Given the description of an element on the screen output the (x, y) to click on. 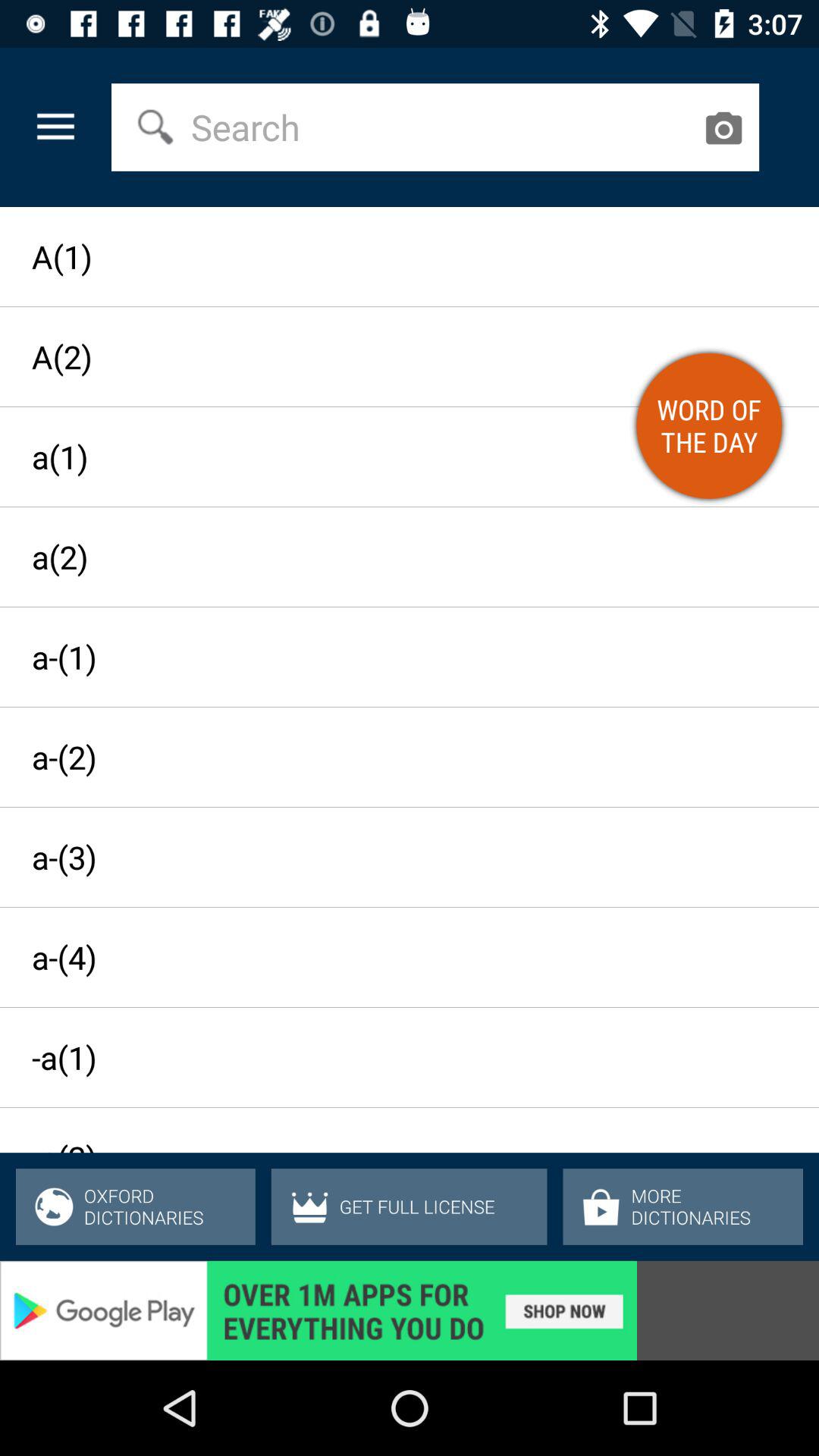
take a picture (723, 127)
